Given the description of an element on the screen output the (x, y) to click on. 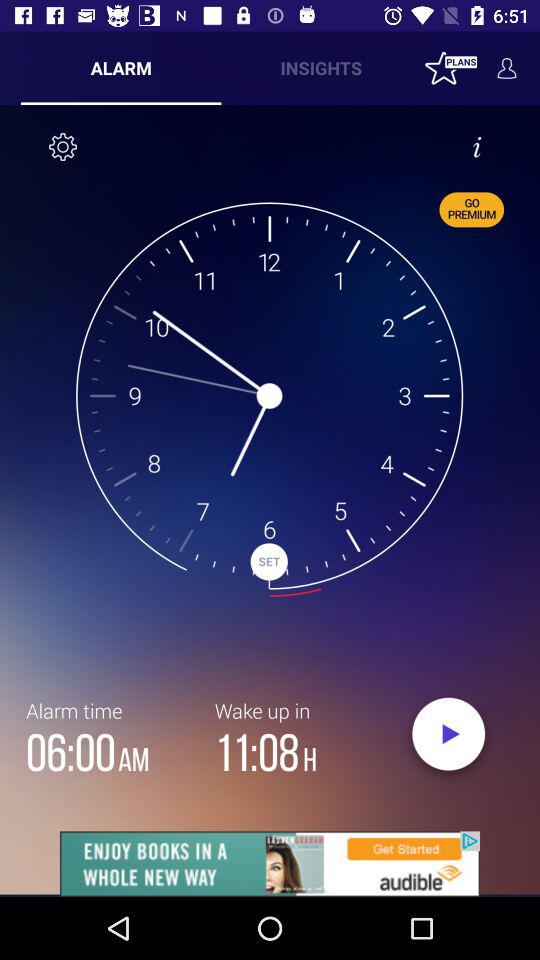
enter settings (63, 147)
